Given the description of an element on the screen output the (x, y) to click on. 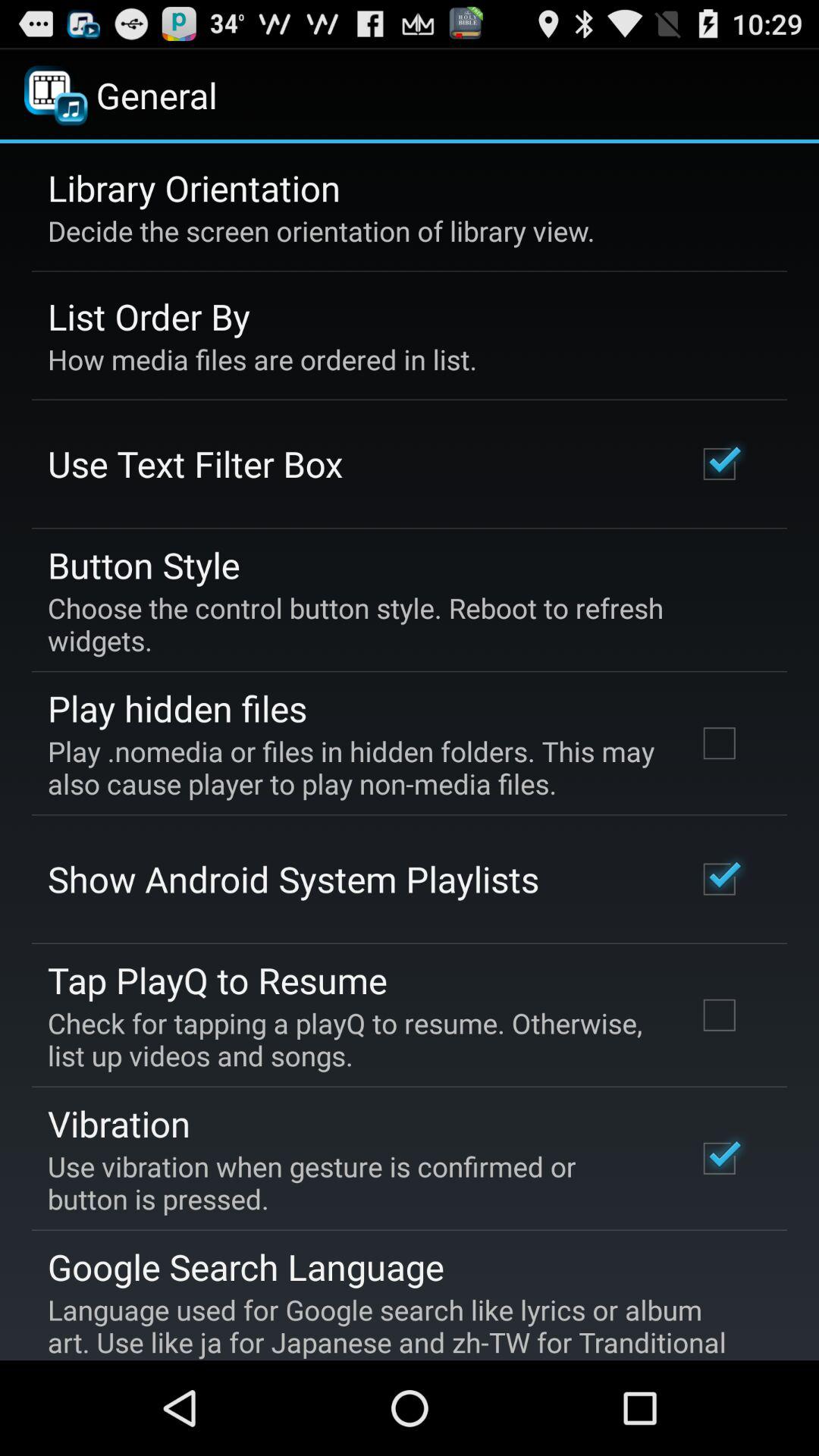
turn off app above the button style (194, 463)
